Given the description of an element on the screen output the (x, y) to click on. 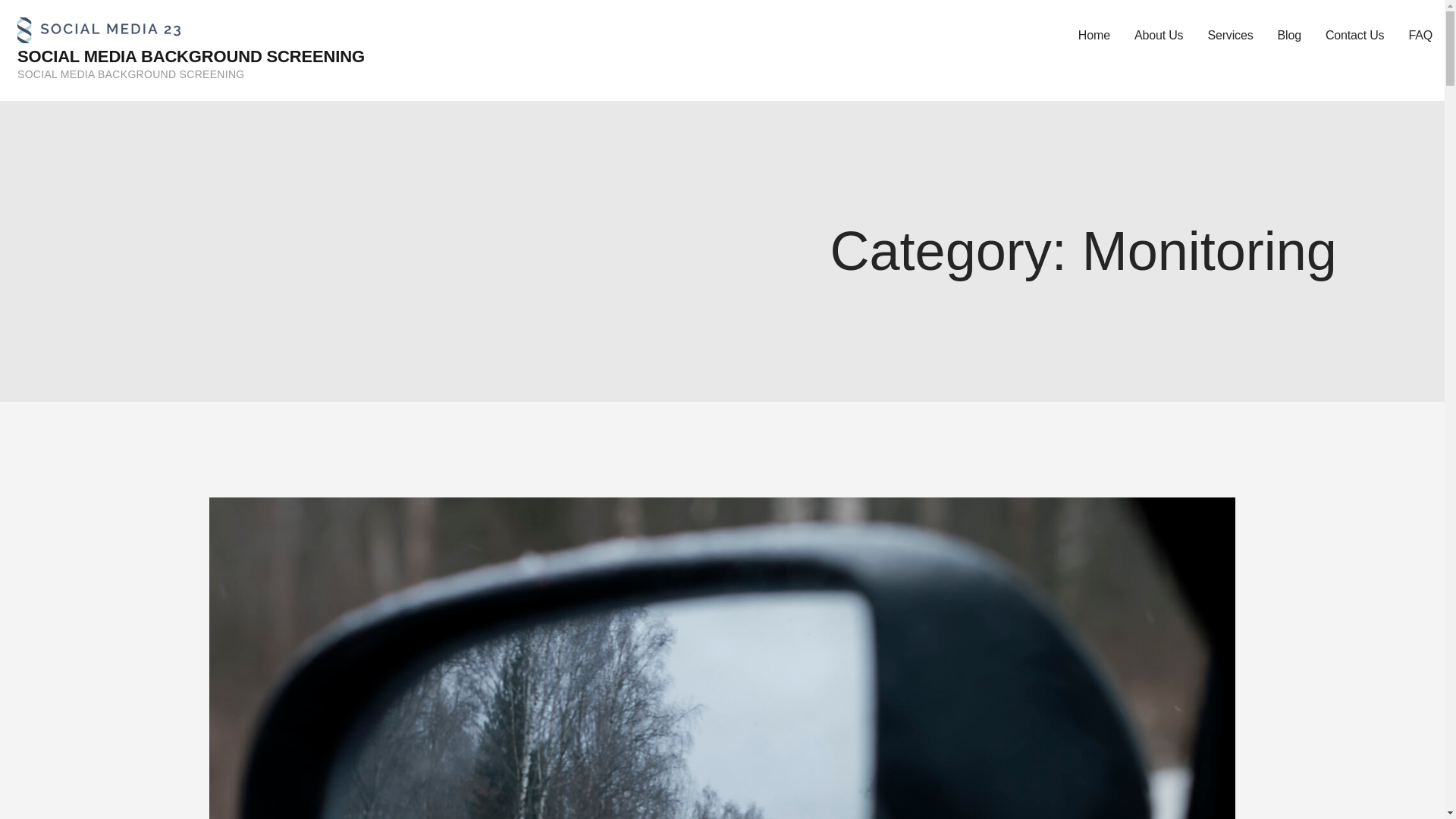
About Us (1158, 36)
Contact Us (1354, 36)
Services (1230, 36)
SOCIAL MEDIA BACKGROUND SCREENING (191, 56)
